Given the description of an element on the screen output the (x, y) to click on. 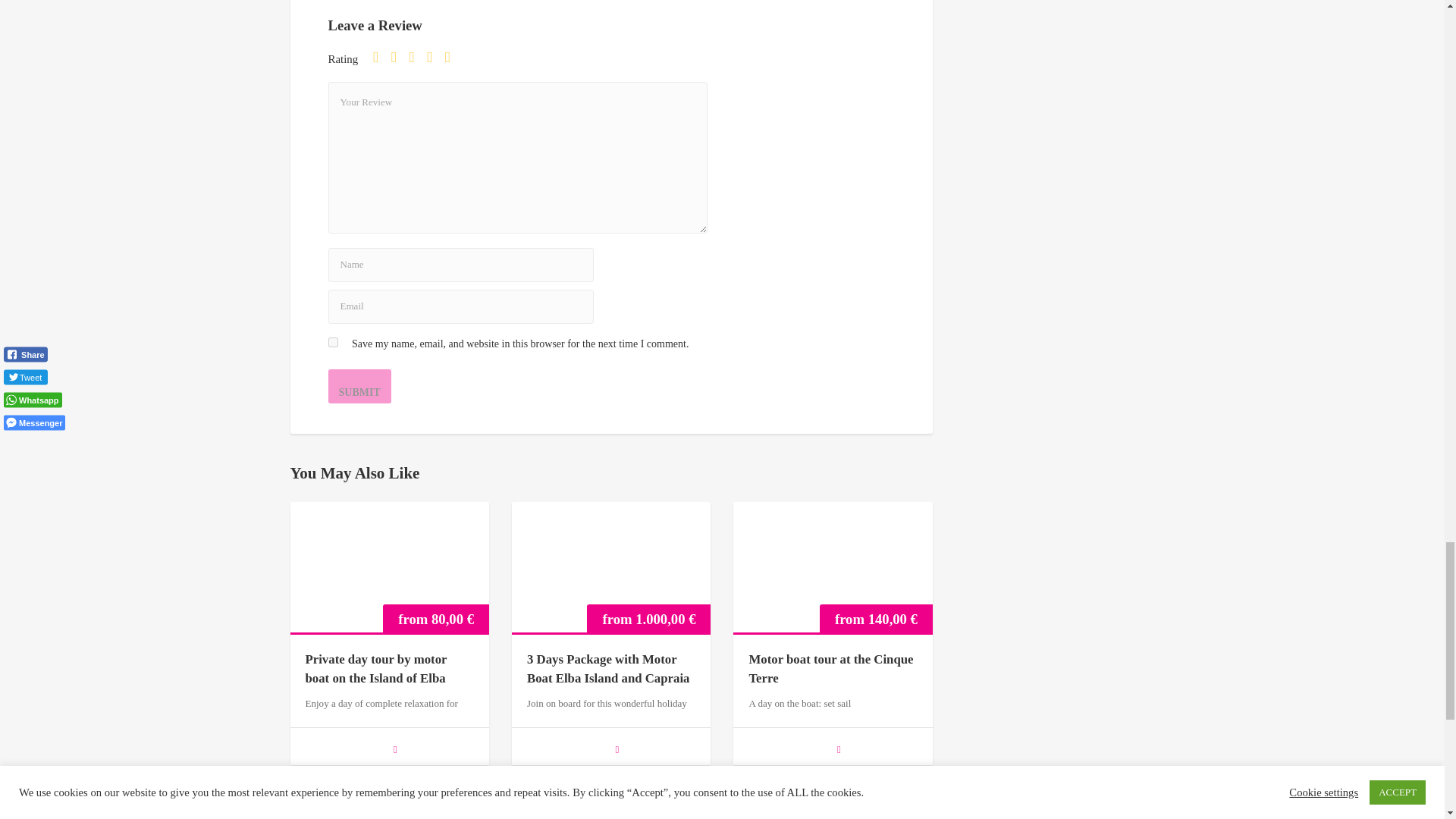
yes (332, 342)
1 (380, 57)
2 (398, 57)
Submit (358, 386)
